Given the description of an element on the screen output the (x, y) to click on. 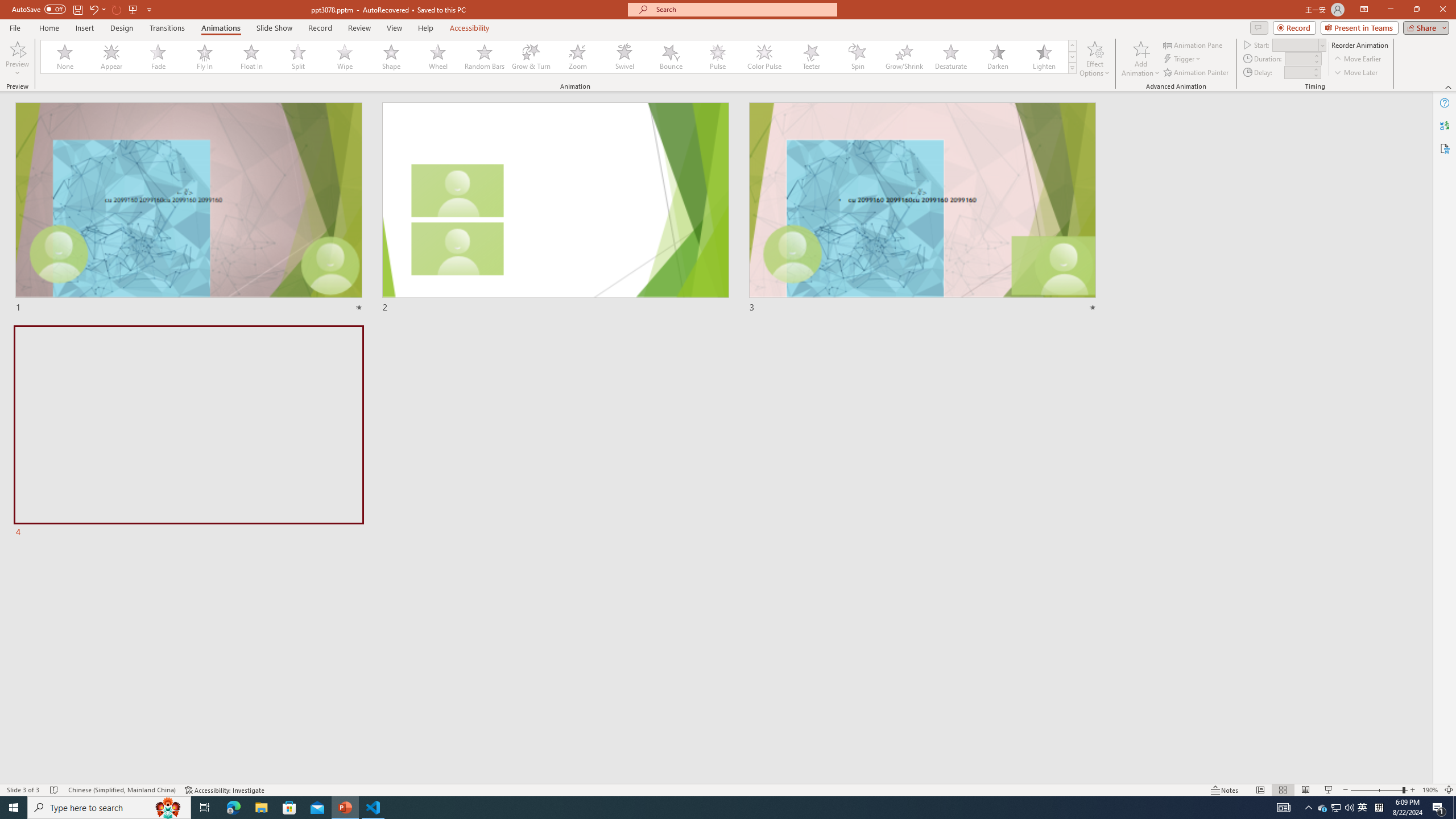
Bounce (670, 56)
Move Earlier (1357, 58)
Grow & Turn (531, 56)
Swivel (624, 56)
Lighten (1043, 56)
Appear (111, 56)
Zoom 190% (1430, 790)
Animation Delay (1297, 72)
